Given the description of an element on the screen output the (x, y) to click on. 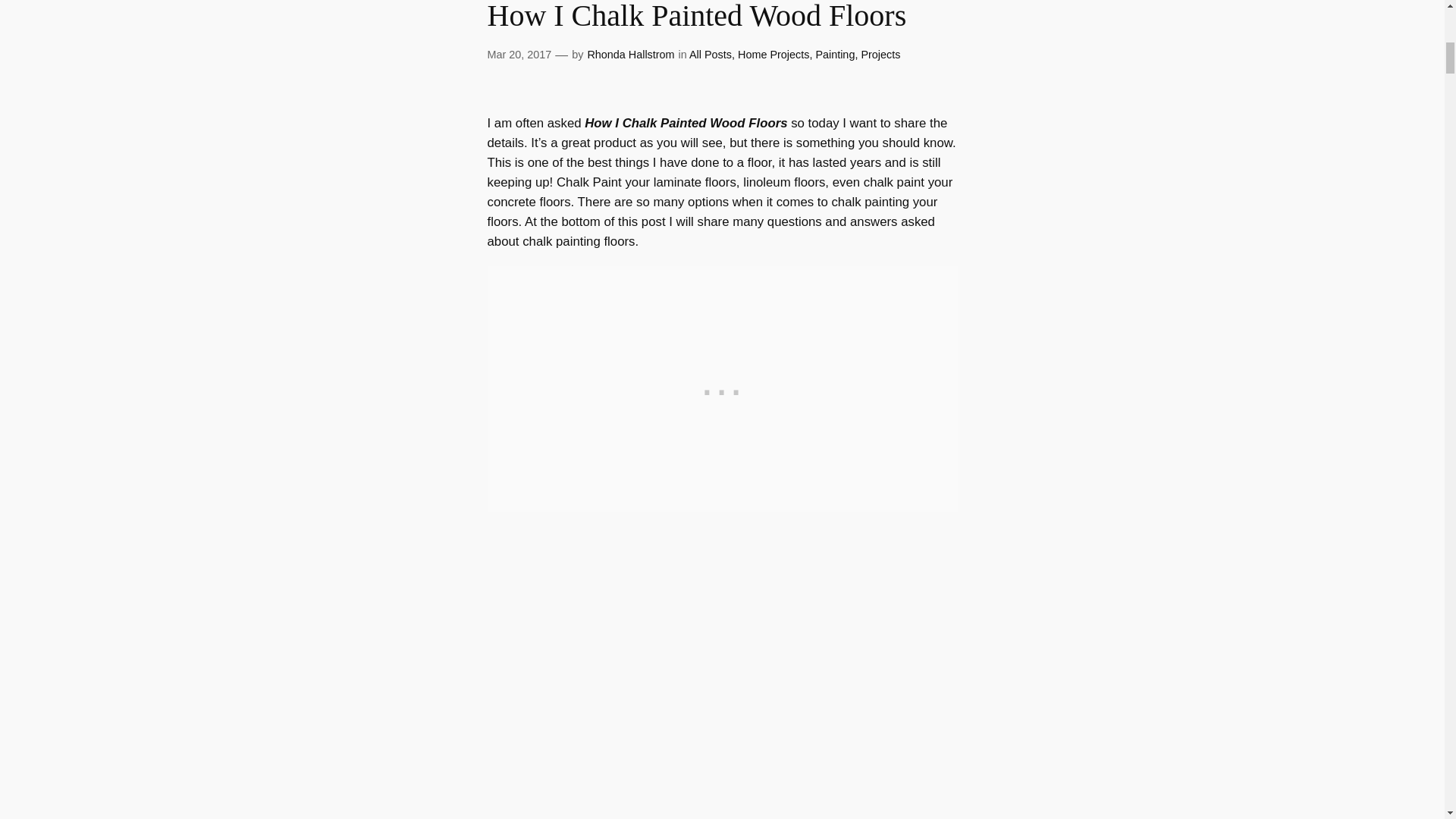
Rhonda Hallstrom (630, 54)
Projects (879, 54)
Home Projects (773, 54)
Painting (834, 54)
All Posts (710, 54)
Mar 20, 2017 (518, 54)
